Given the description of an element on the screen output the (x, y) to click on. 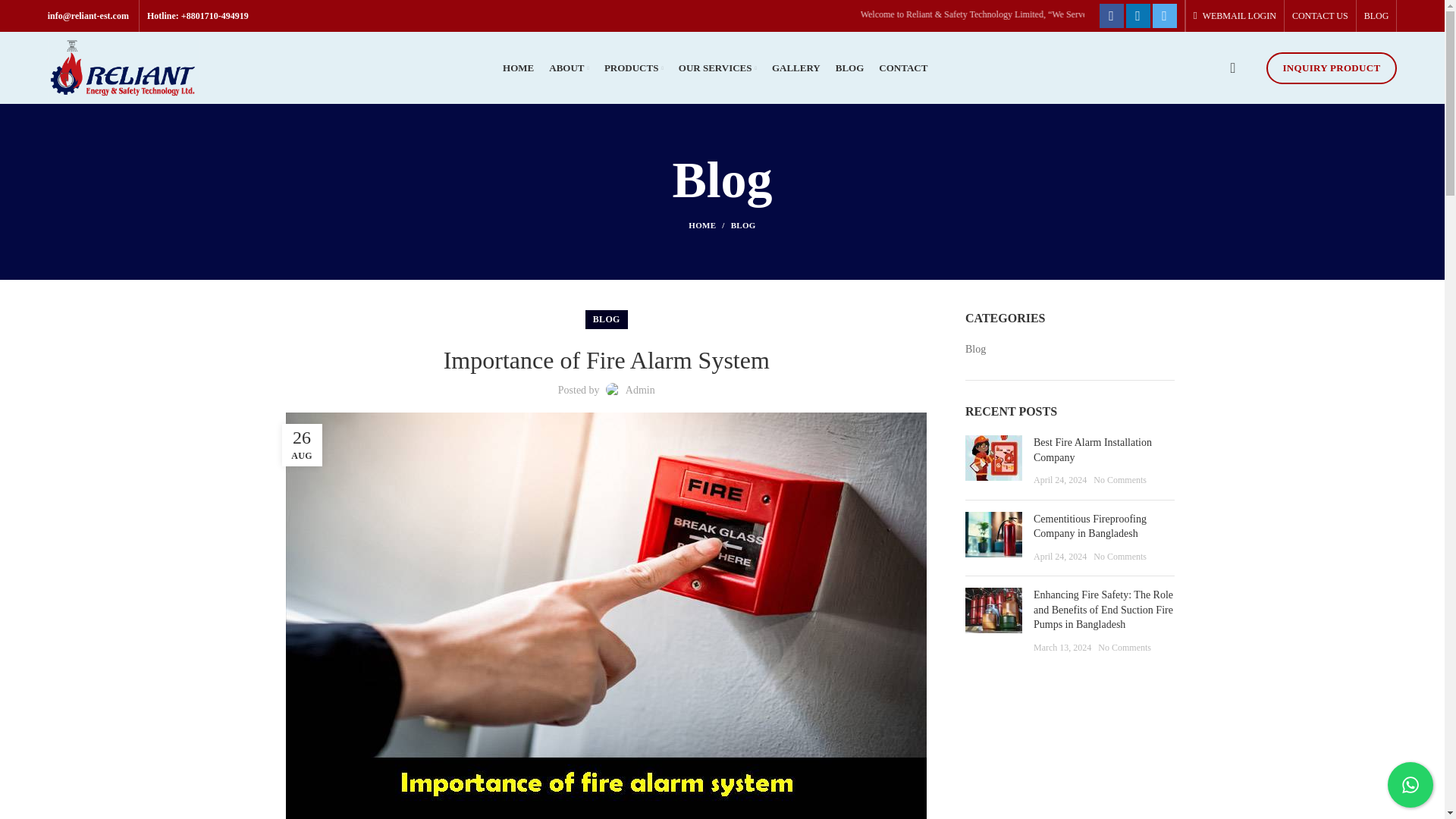
Permalink to Cementitious Fireproofing Company in Bangladesh (1090, 526)
Permalink to Best Fire Alarm Installation Company (1092, 449)
CONTACT US (1319, 15)
4348 (993, 534)
ABOUT (568, 68)
HOME (518, 68)
Twitter (1164, 15)
OUR SERVICES (717, 68)
WEBMAIL LOGIN (1235, 15)
PRODUCTS (633, 68)
